Given the description of an element on the screen output the (x, y) to click on. 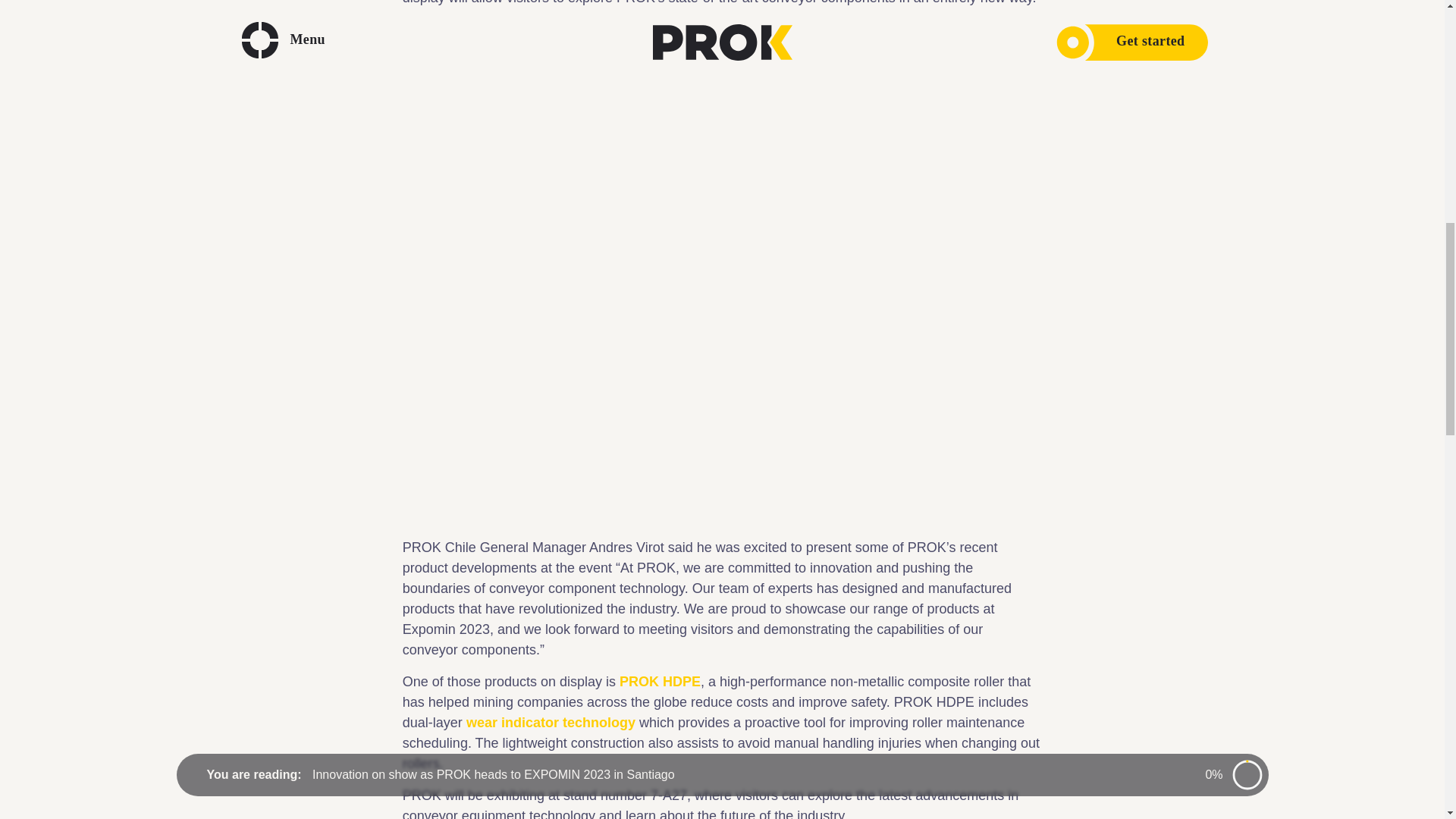
wear indicator technology (549, 722)
PROK HDPE (660, 681)
